Given the description of an element on the screen output the (x, y) to click on. 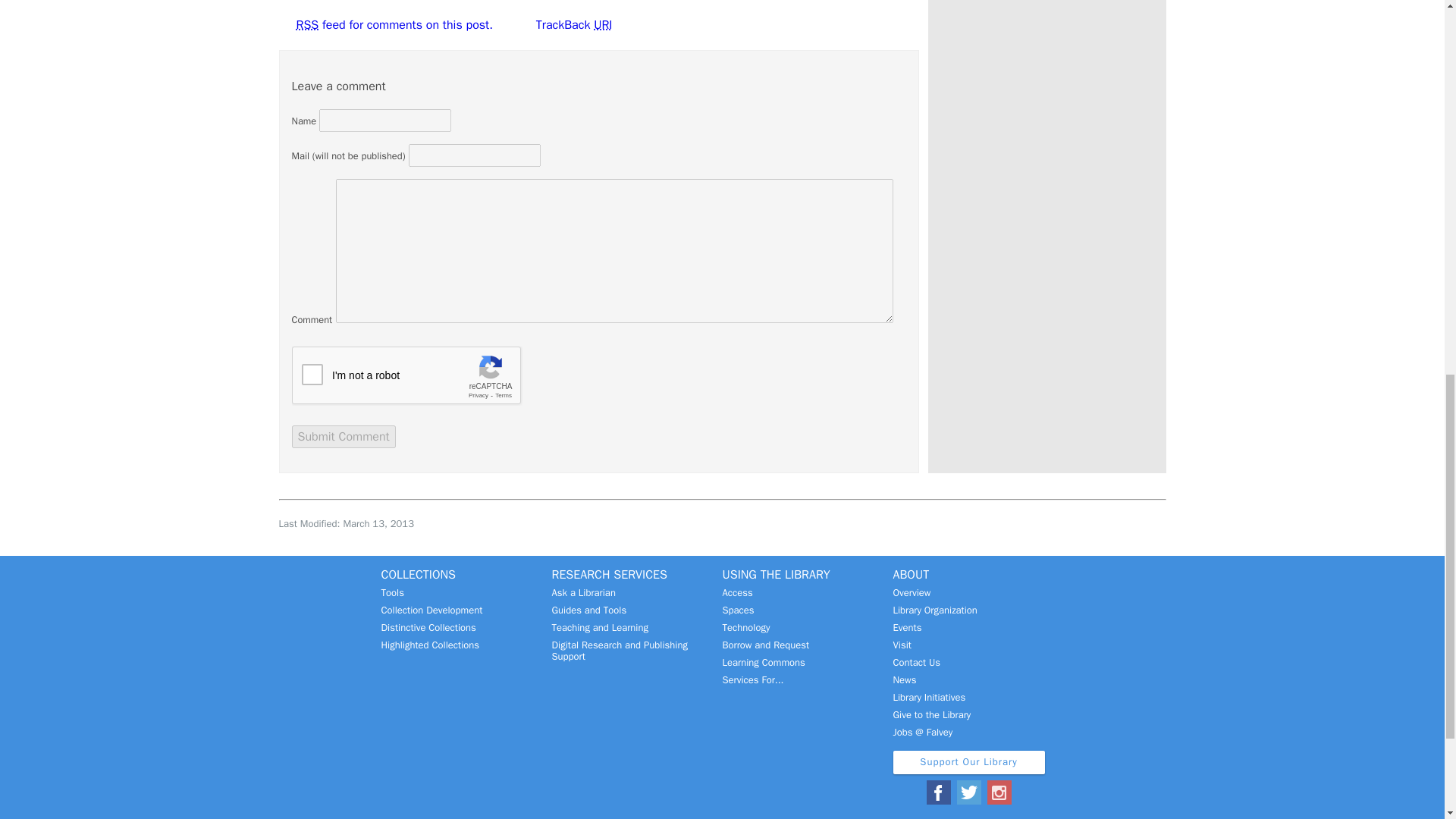
Uniform Resource Identifier (602, 24)
reCAPTCHA (406, 375)
Submit Comment (342, 436)
Really Simple Syndication (306, 24)
